Given the description of an element on the screen output the (x, y) to click on. 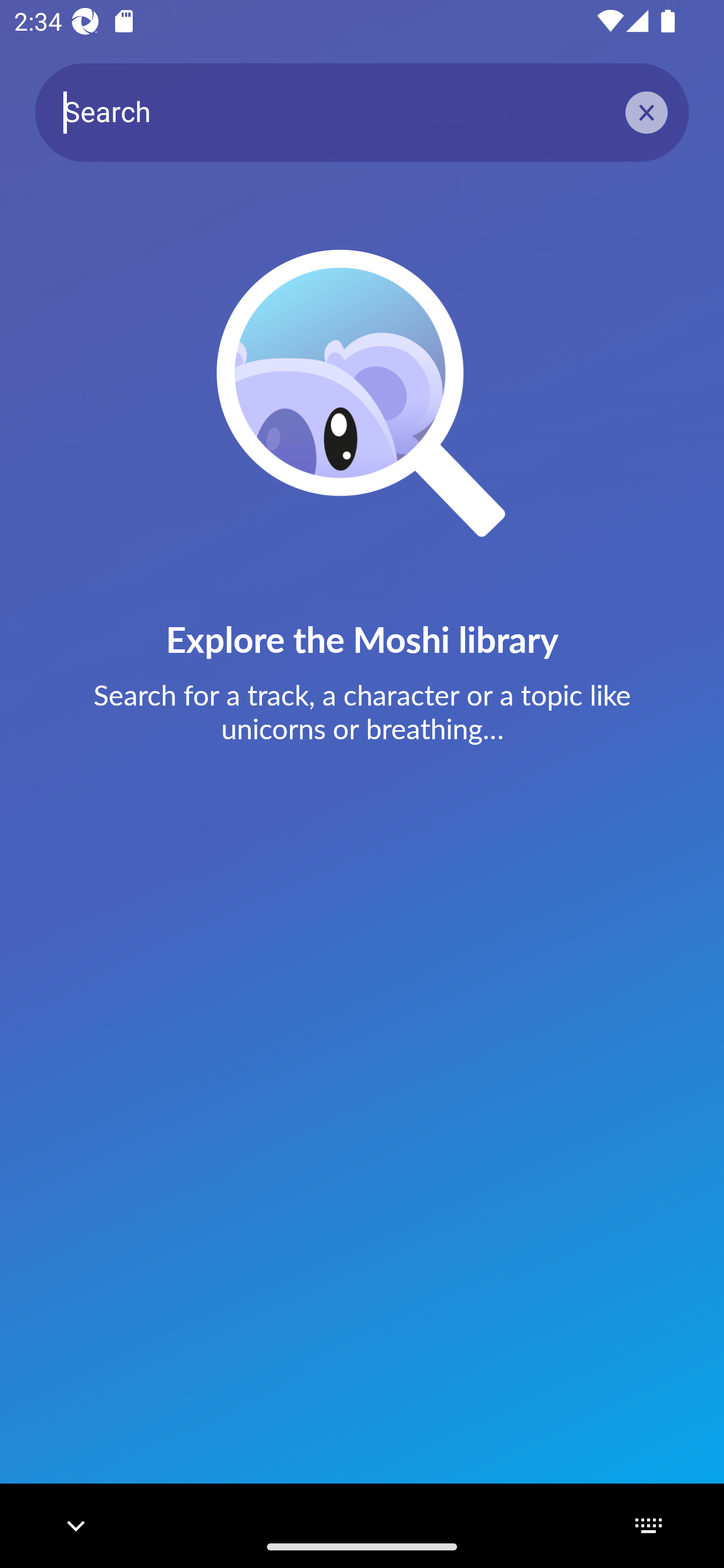
Search (361, 111)
